Given the description of an element on the screen output the (x, y) to click on. 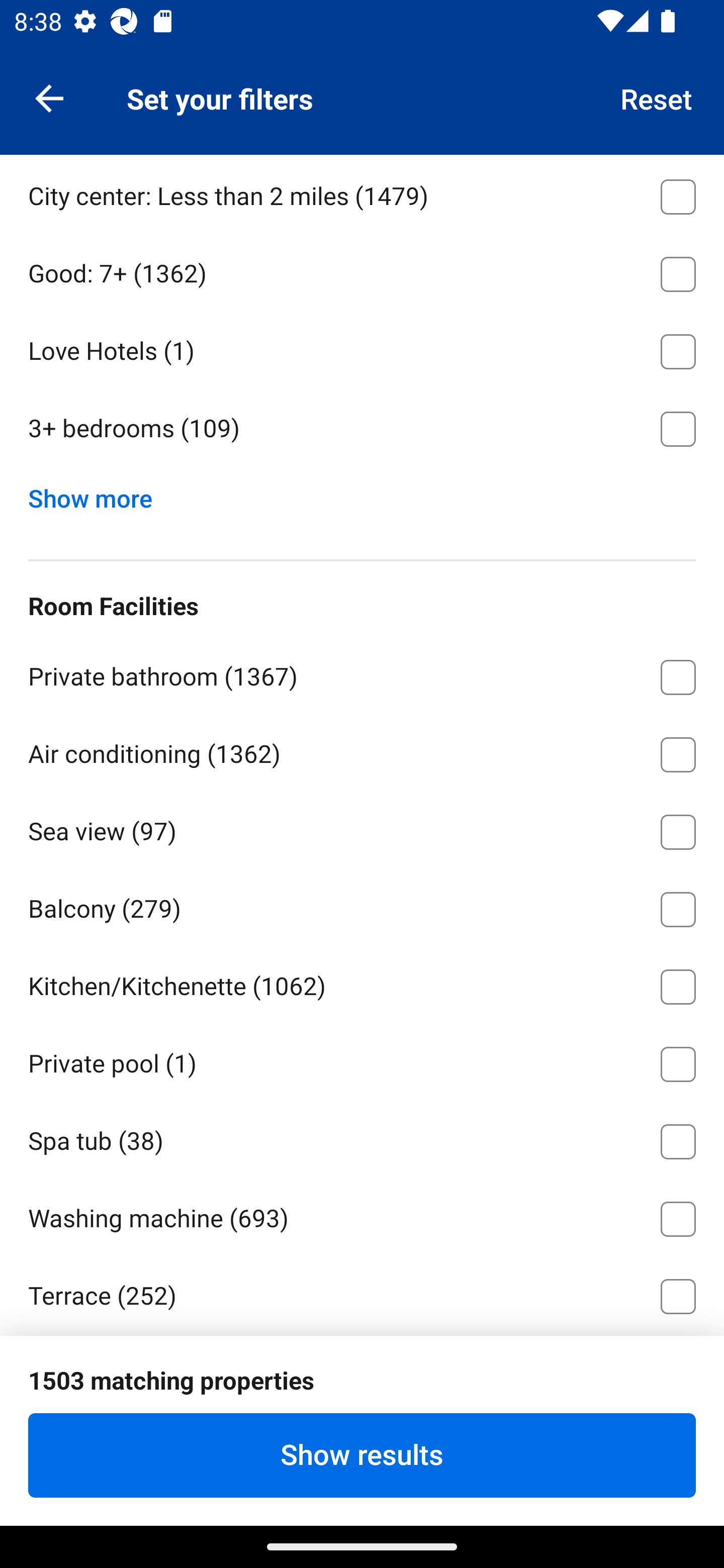
Navigate up (49, 97)
Reset (656, 97)
Vacation Homes ⁦(19) (361, 115)
City center: Less than 2 miles ⁦(1479) (361, 193)
Good: 7+ ⁦(1362) (361, 270)
Love Hotels ⁦(1) (361, 347)
3+ bedrooms ⁦(109) (361, 429)
Show more (97, 494)
Private bathroom ⁦(1367) (361, 673)
Air conditioning ⁦(1362) (361, 750)
Sea view ⁦(97) (361, 828)
Balcony ⁦(279) (361, 906)
Kitchen/Kitchenette ⁦(1062) (361, 983)
Private pool ⁦(1) (361, 1060)
Spa tub ⁦(38) (361, 1138)
Washing machine ⁦(693) (361, 1215)
Terrace ⁦(252) (361, 1292)
Show results (361, 1454)
